Given the description of an element on the screen output the (x, y) to click on. 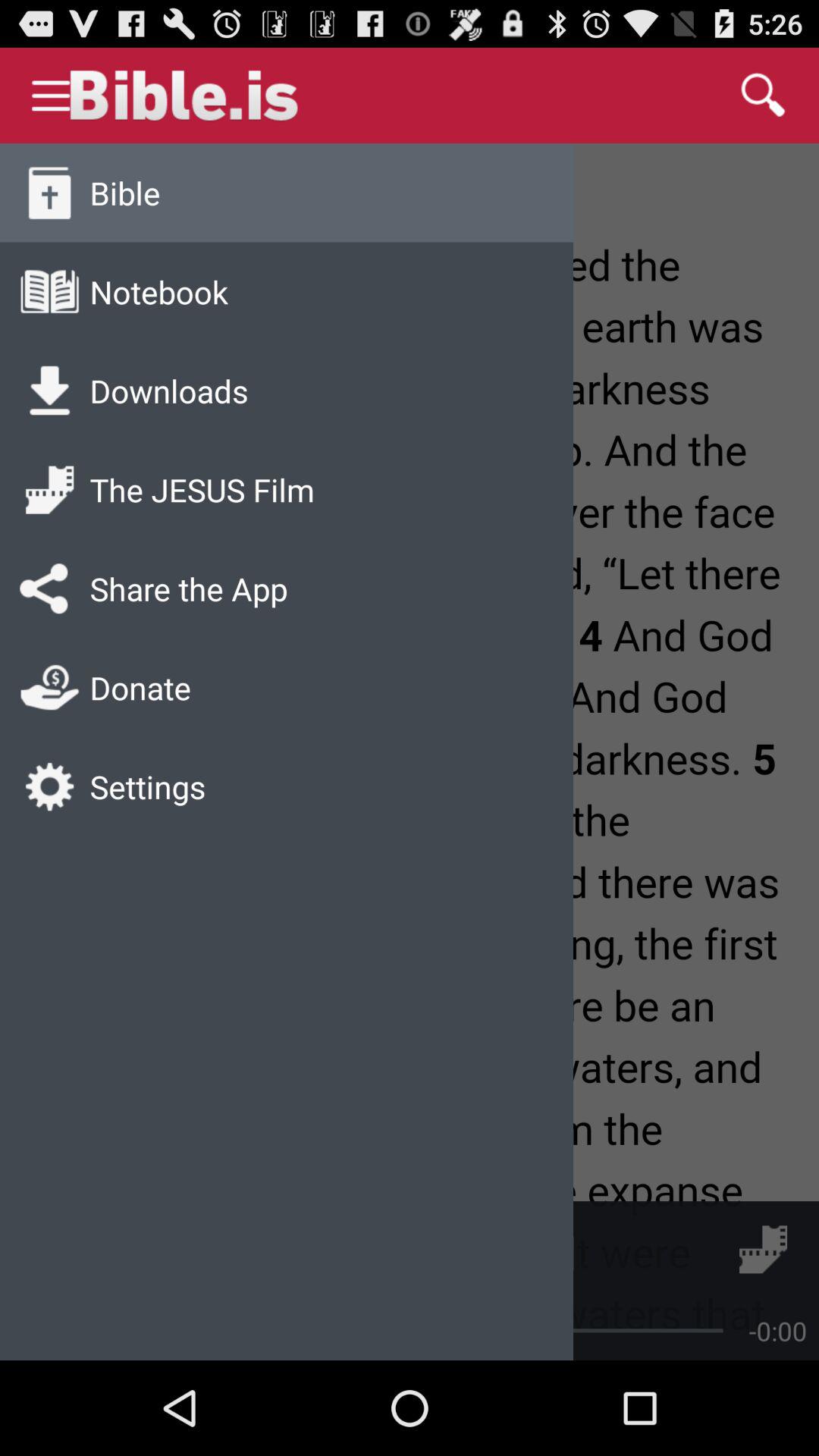
click on the bible icon (49, 192)
click on the icon of the jesus film (49, 489)
